Given the description of an element on the screen output the (x, y) to click on. 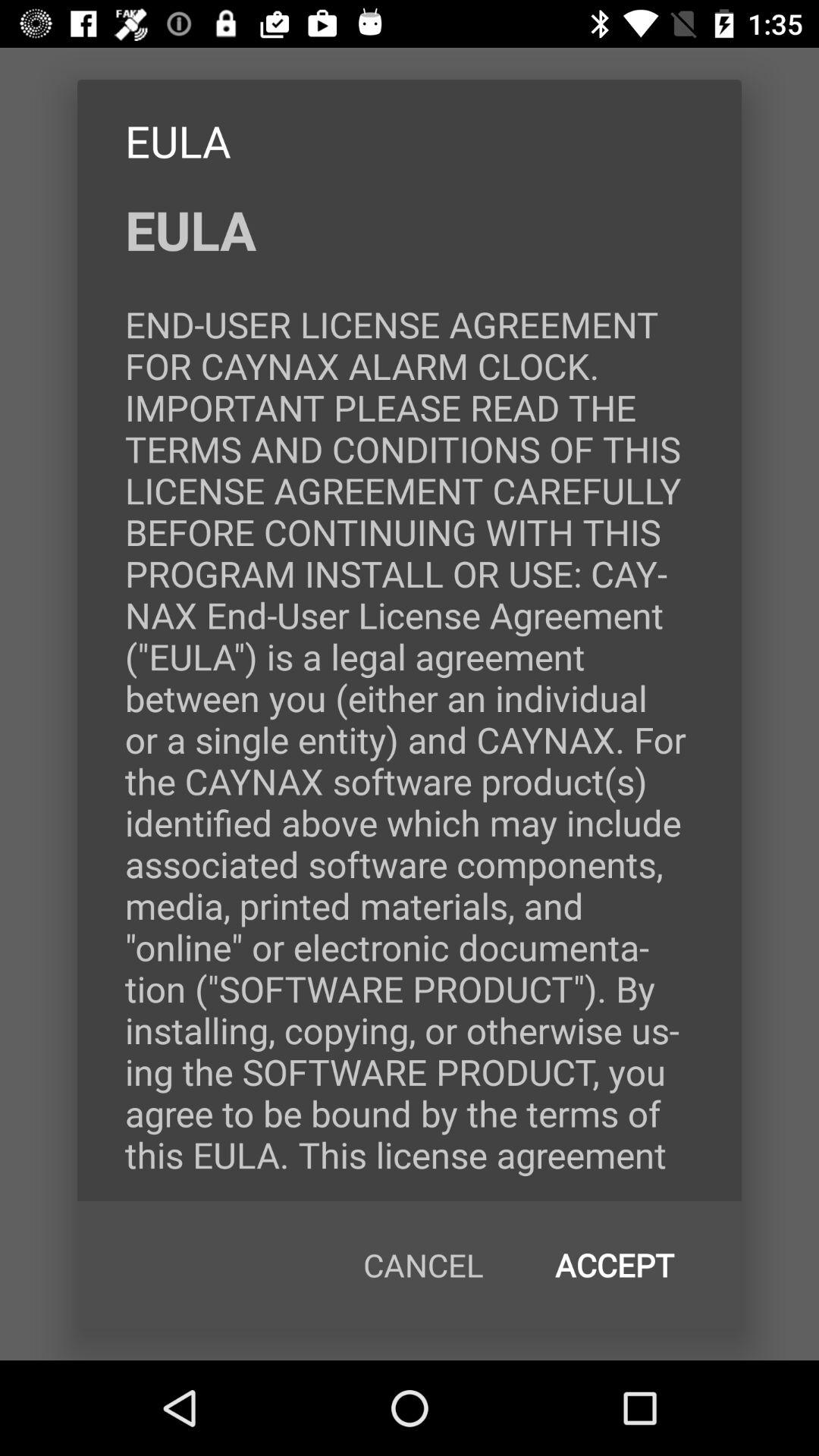
turn on icon below eula end user icon (613, 1264)
